Given the description of an element on the screen output the (x, y) to click on. 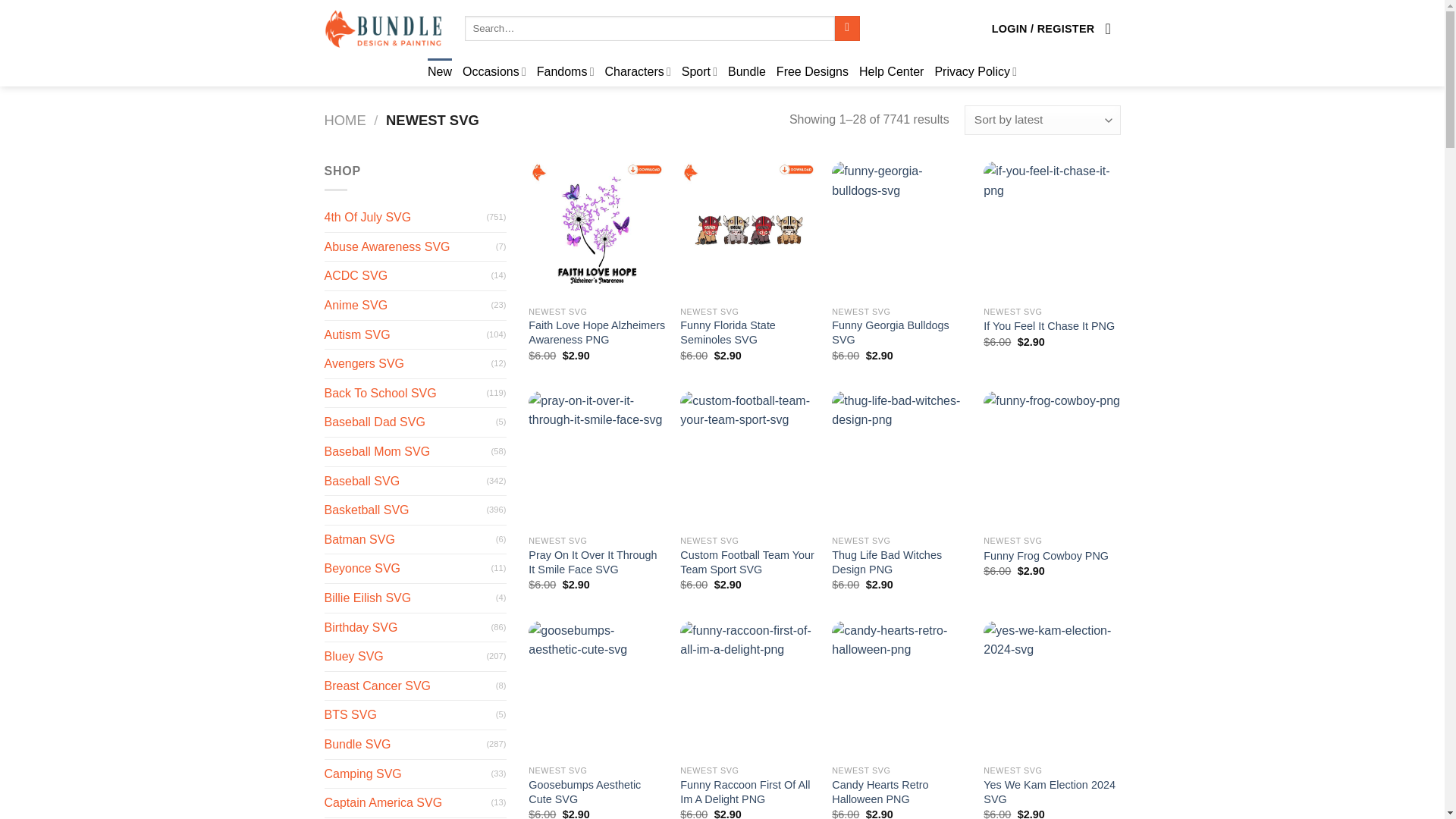
Search (847, 28)
FoxBundle (383, 27)
New (439, 71)
Fandoms (565, 71)
Occasions (494, 71)
